Given the description of an element on the screen output the (x, y) to click on. 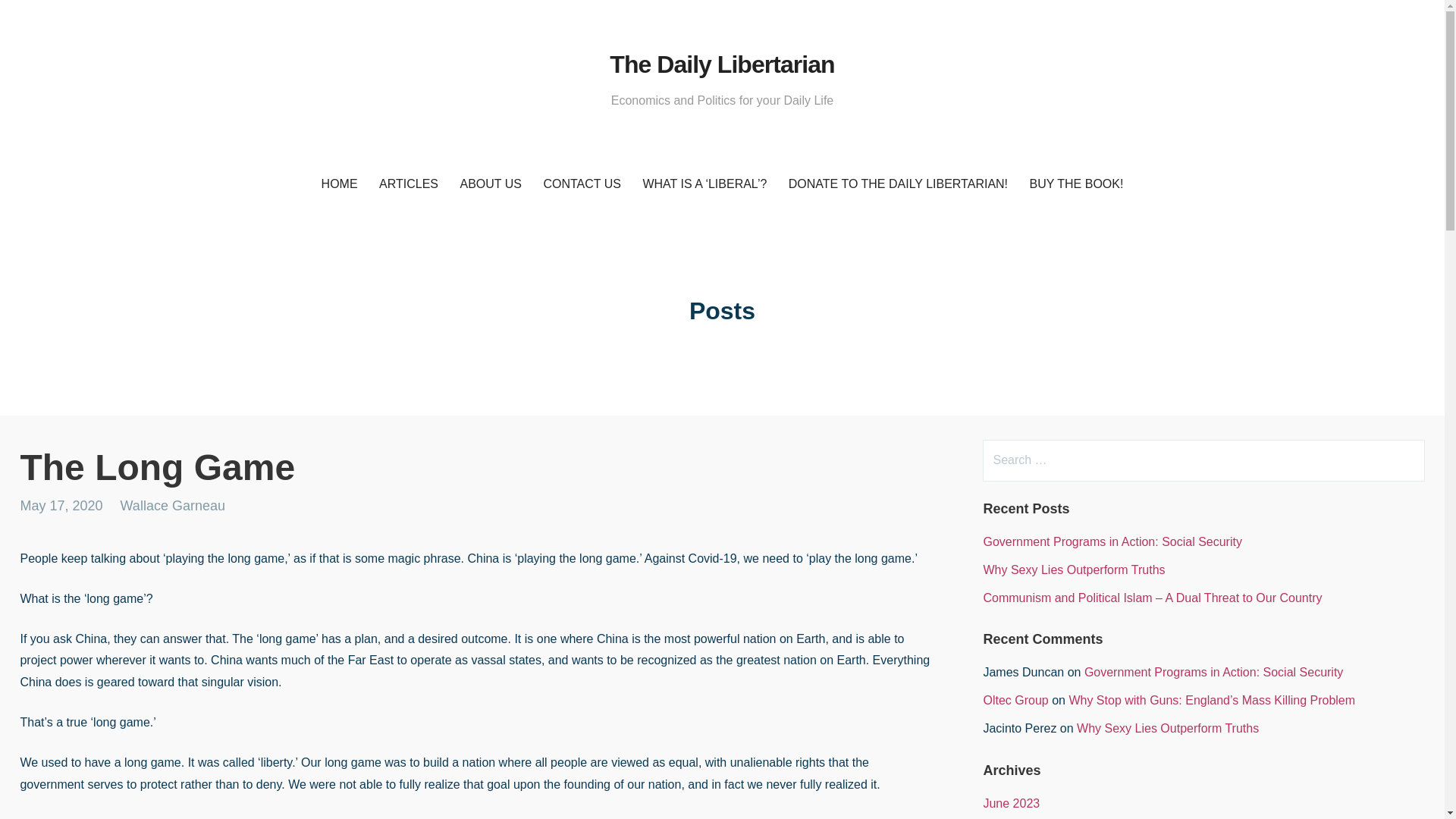
June 2023 (1010, 802)
DONATE TO THE DAILY LIBERTARIAN! (897, 184)
Why Sexy Lies Outperform Truths (1168, 727)
ABOUT US (490, 184)
BUY THE BOOK! (1076, 184)
Posts by Wallace Garneau (172, 505)
Wallace Garneau (172, 505)
Oltec Group (1015, 699)
Search (42, 18)
HOME (339, 184)
